Given the description of an element on the screen output the (x, y) to click on. 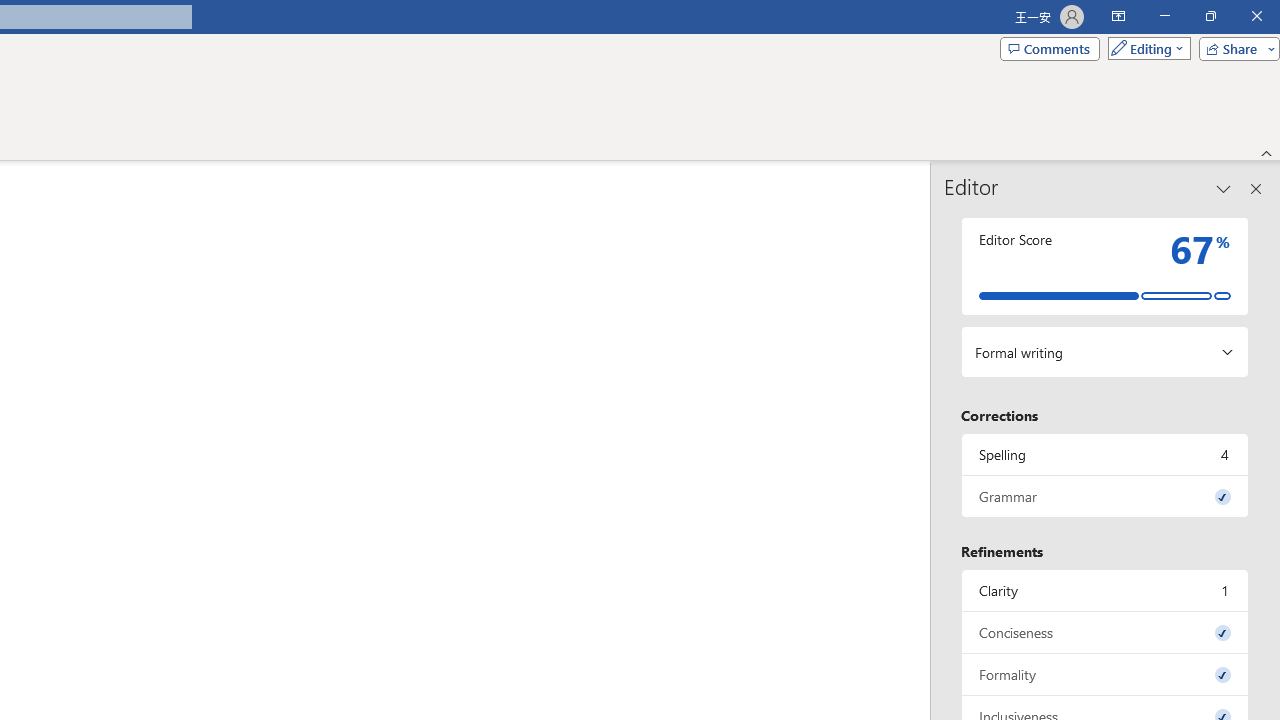
Formality, 0 issues. Press space or enter to review items. (1105, 673)
